Given the description of an element on the screen output the (x, y) to click on. 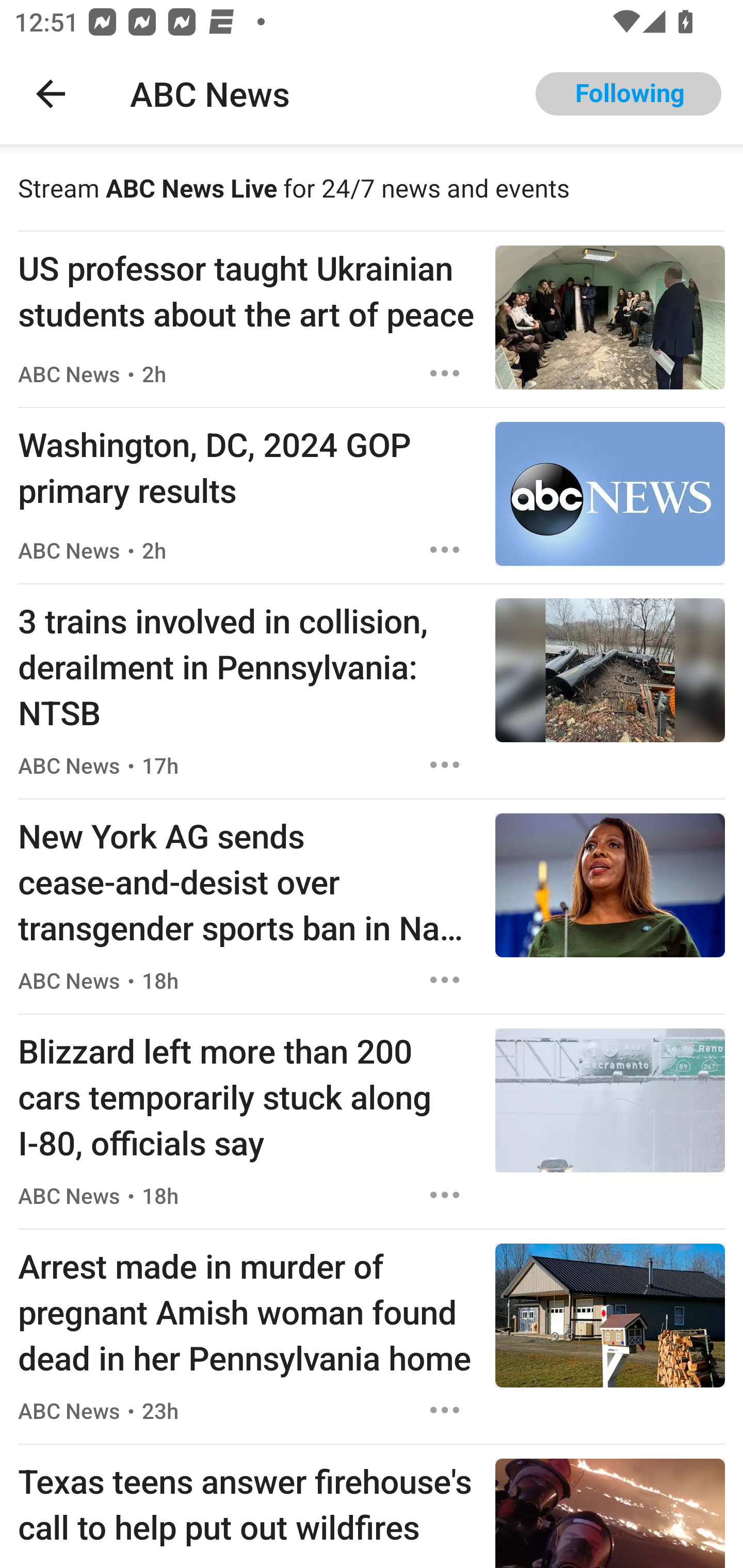
Navigate up (50, 93)
Following (628, 94)
Stream ABC News Live for 24/7 news and events (371, 187)
Options (444, 373)
Options (444, 549)
Options (444, 765)
Options (444, 979)
Options (444, 1194)
Options (444, 1410)
